Given the description of an element on the screen output the (x, y) to click on. 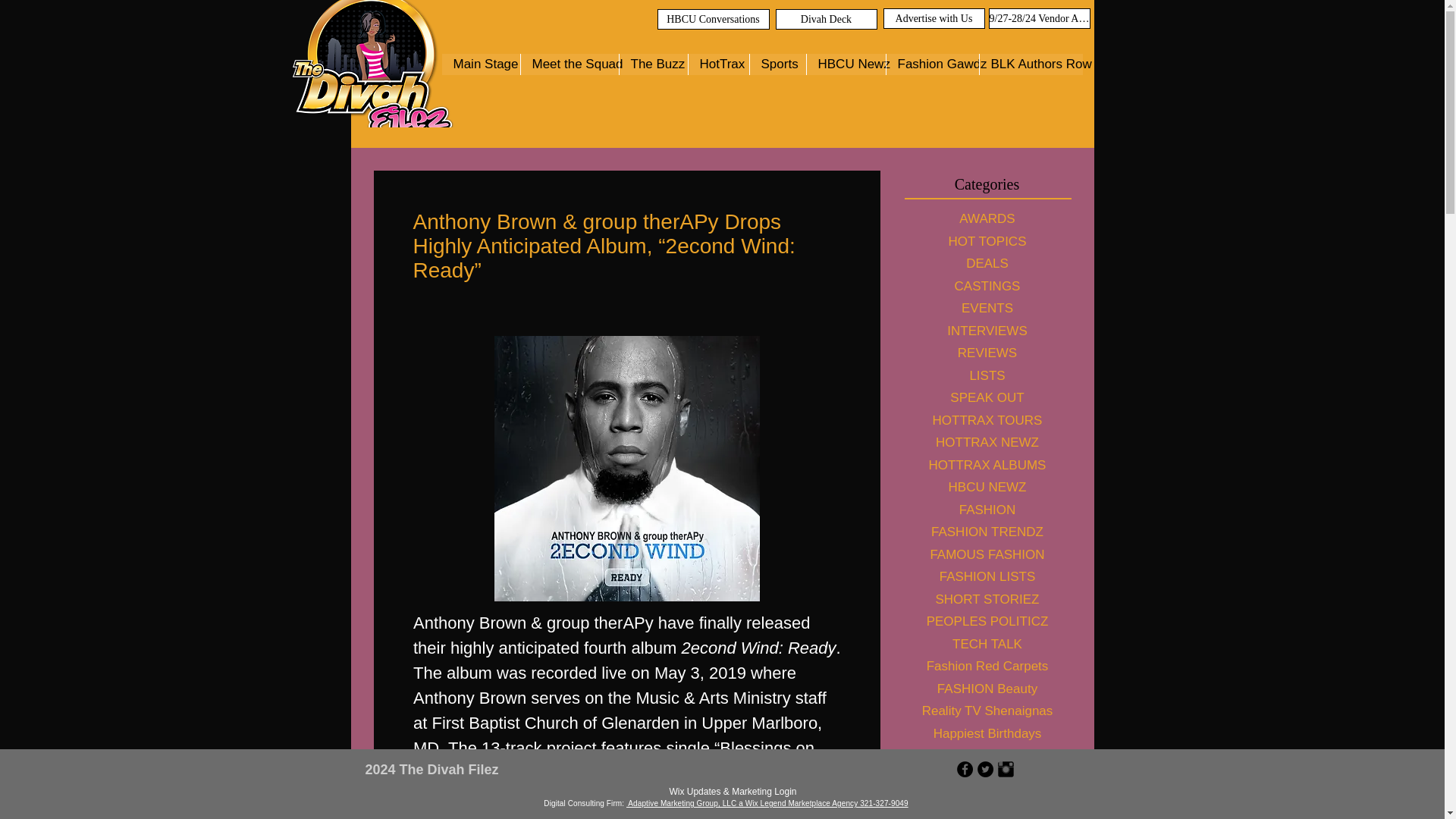
Fashion Gawdz (931, 64)
INTERVIEWS (986, 331)
HBCU NEWZ (986, 486)
SPEAK OUT (986, 397)
Sports (777, 64)
HotTrax (717, 64)
HBCU Newz (845, 64)
The Buzz (652, 64)
FASHION TRENDZ (986, 531)
FASHION (986, 509)
HOTTRAX ALBUMS (986, 464)
Main Stage (480, 64)
HOTTRAX TOURS (986, 420)
LISTS (986, 374)
DEALS (986, 263)
